Given the description of an element on the screen output the (x, y) to click on. 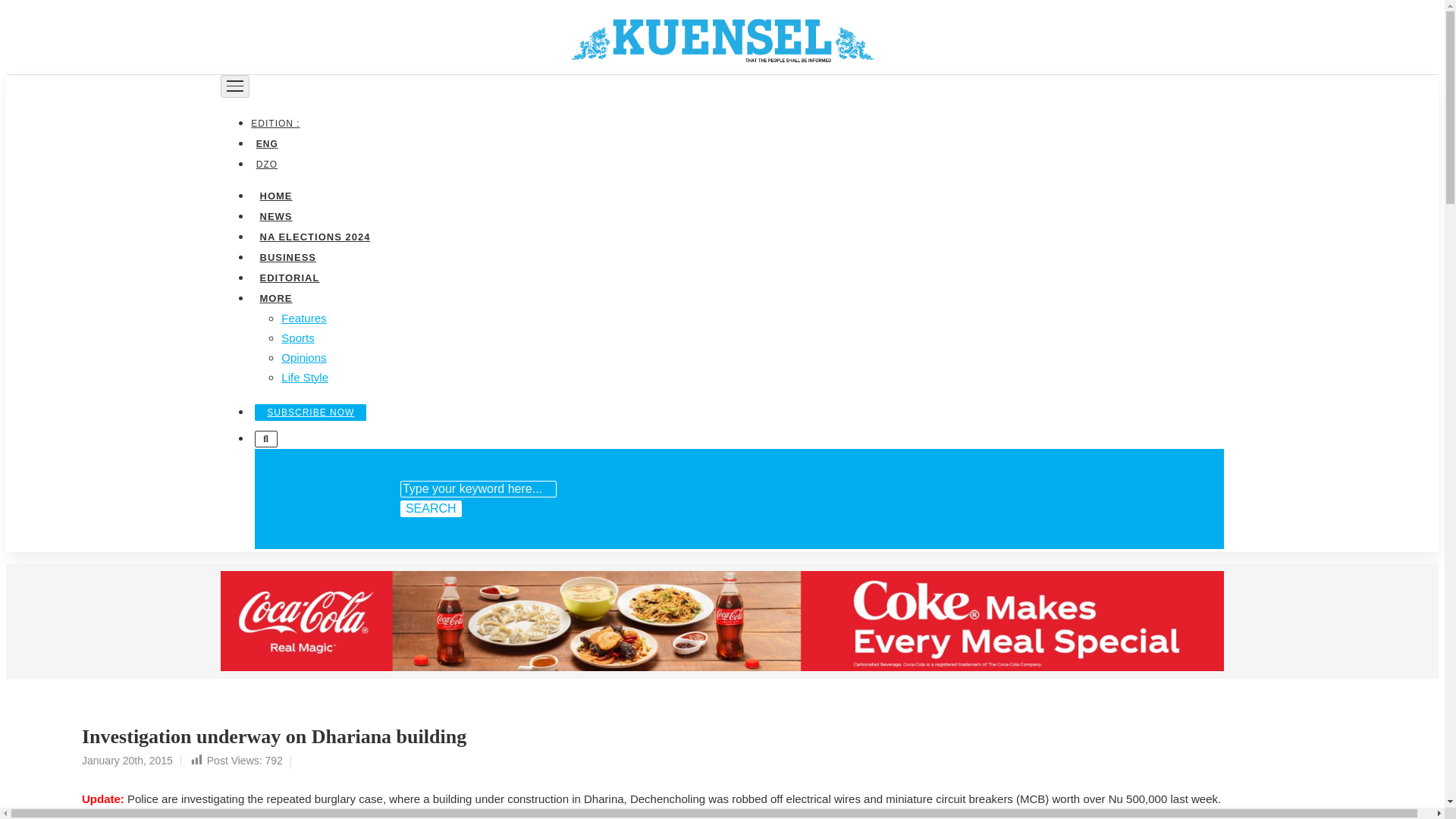
ENG (266, 143)
SEARCH (430, 508)
EDITORIAL (288, 276)
MORE (274, 297)
NA ELECTIONS 2024 (314, 235)
Opinions (303, 356)
NEWS (274, 215)
EDITION : (277, 122)
BUSINESS (287, 256)
Features (303, 317)
